Given the description of an element on the screen output the (x, y) to click on. 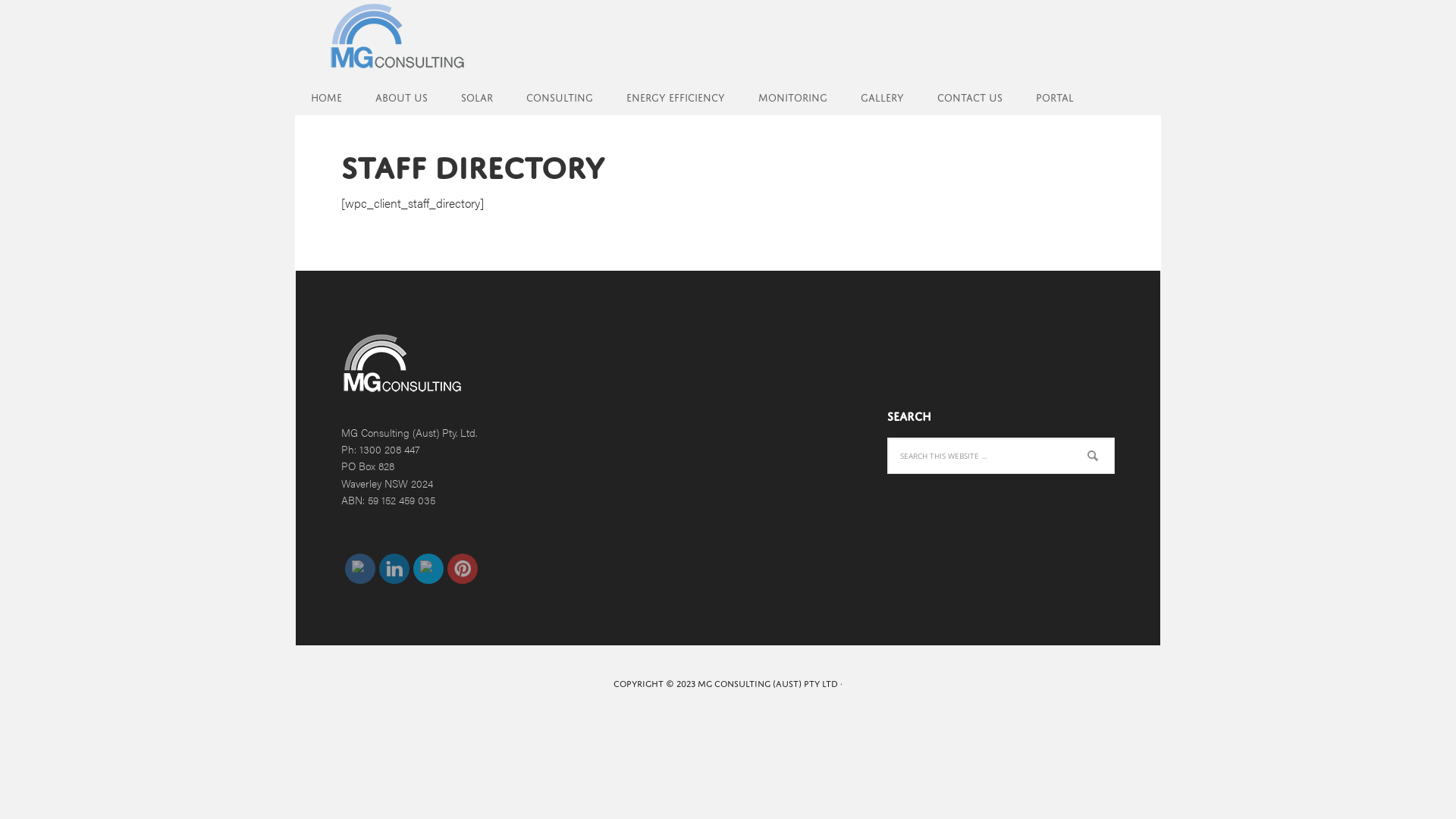
About Us Element type: text (401, 95)
Contact Us Element type: text (969, 95)
Monitoring Element type: text (792, 95)
Consulting Element type: text (559, 95)
Pinterest Element type: hover (462, 568)
LinkedIn Element type: hover (393, 568)
Energy Efficiency Element type: text (675, 95)
Gallery Element type: text (882, 95)
Search Element type: text (1113, 436)
Home Element type: text (326, 95)
Solar Element type: text (476, 95)
MG Consulting Australia Element type: text (393, 37)
Facebook Element type: hover (359, 568)
Portal Element type: text (1054, 95)
Twitter Element type: hover (428, 568)
